Given the description of an element on the screen output the (x, y) to click on. 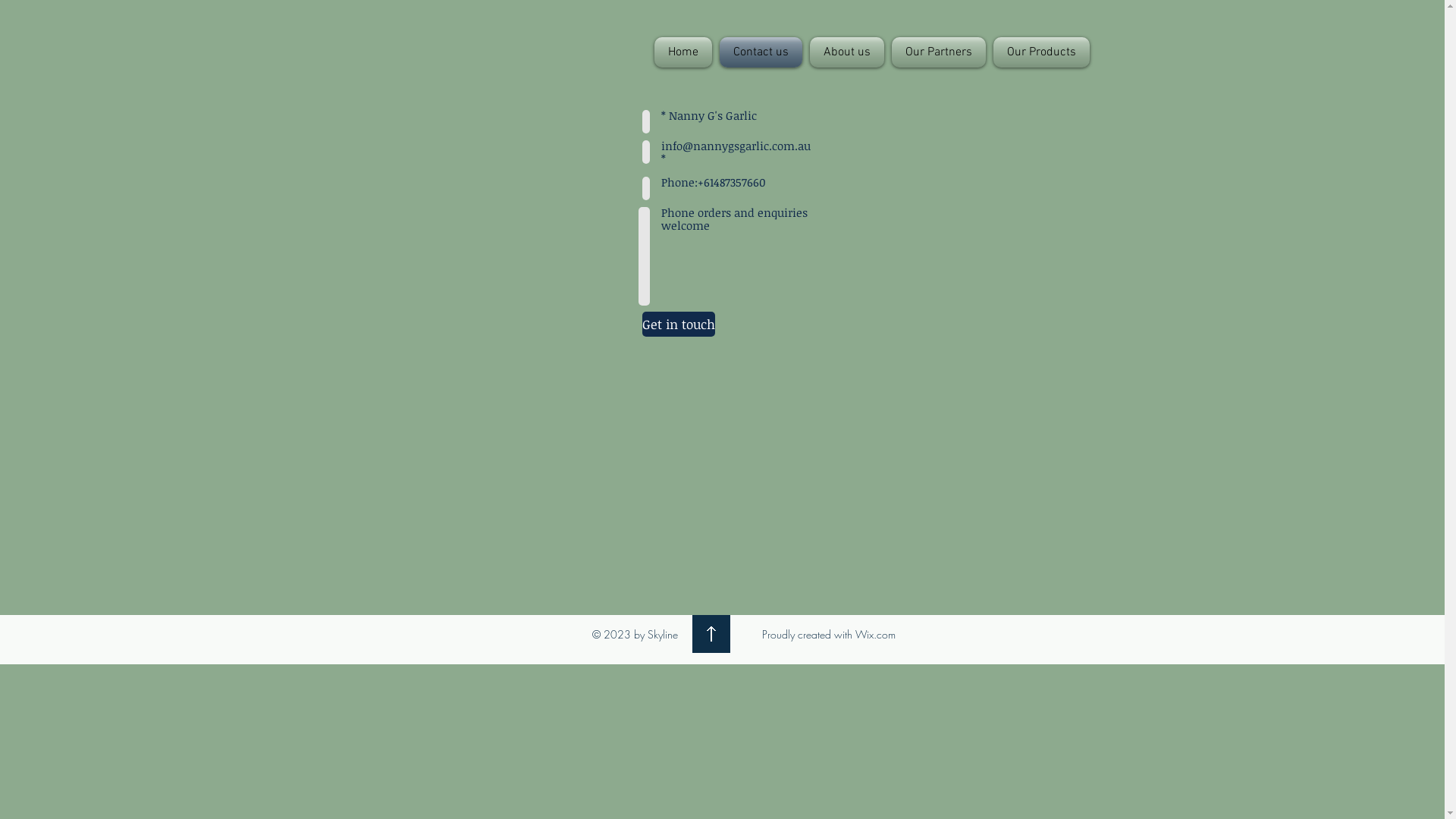
About us Element type: text (846, 52)
Contact us Element type: text (760, 52)
Our Partners Element type: text (937, 52)
Our Products Element type: text (1038, 52)
info@nannygsgarlic.com.au Element type: text (735, 145)
Get in touch Element type: text (677, 323)
Home Element type: text (684, 52)
Proudly created with Wix.com Element type: text (827, 634)
